Given the description of an element on the screen output the (x, y) to click on. 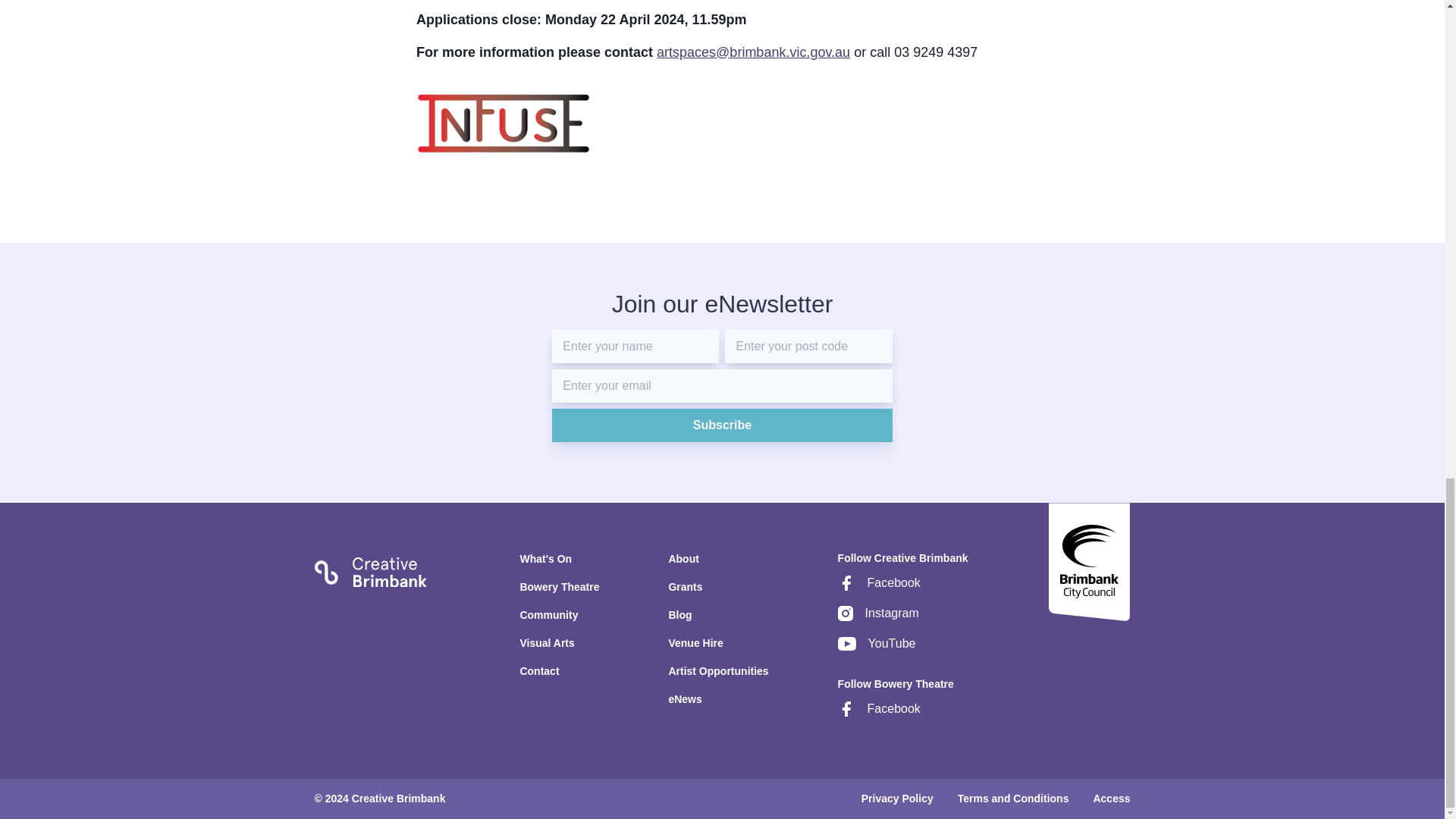
Instagram (903, 619)
Creative Brimbank (370, 569)
What's On (558, 565)
Subscribe (721, 425)
Grants (718, 593)
Facebook (903, 589)
About (718, 565)
Contact (558, 671)
Bowery Theatre (558, 593)
Blog (718, 621)
